Given the description of an element on the screen output the (x, y) to click on. 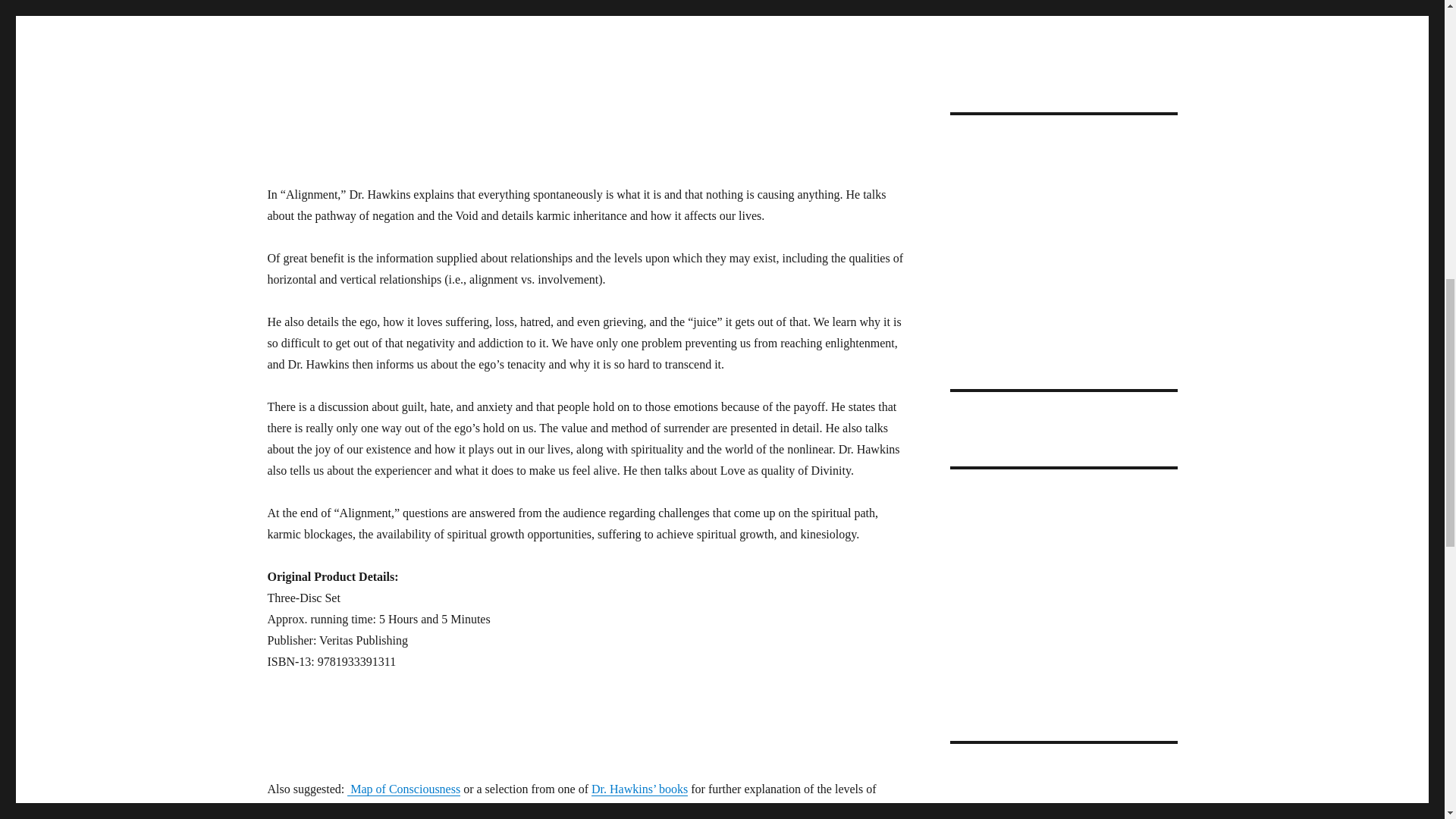
YouTube player (361, 75)
